Given the description of an element on the screen output the (x, y) to click on. 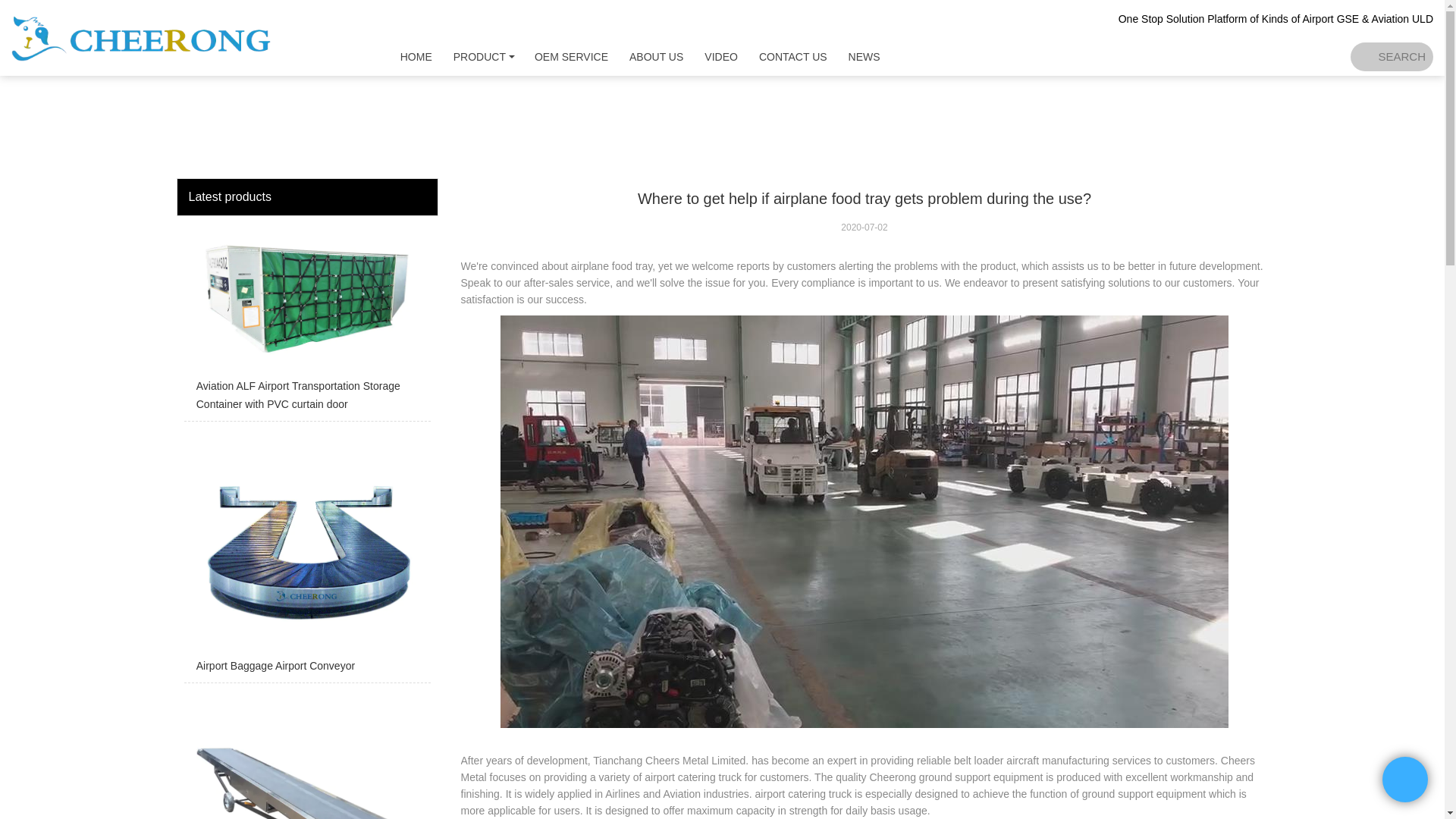
OEM SERVICE (571, 56)
VIDEO (721, 56)
CONTACT US (793, 56)
PRODUCT (479, 56)
Airport Baggage Airport Conveyor (306, 555)
ABOUT US (656, 56)
NEWS (864, 56)
HOME (416, 56)
Electric conveyor belt loader (306, 755)
